Given the description of an element on the screen output the (x, y) to click on. 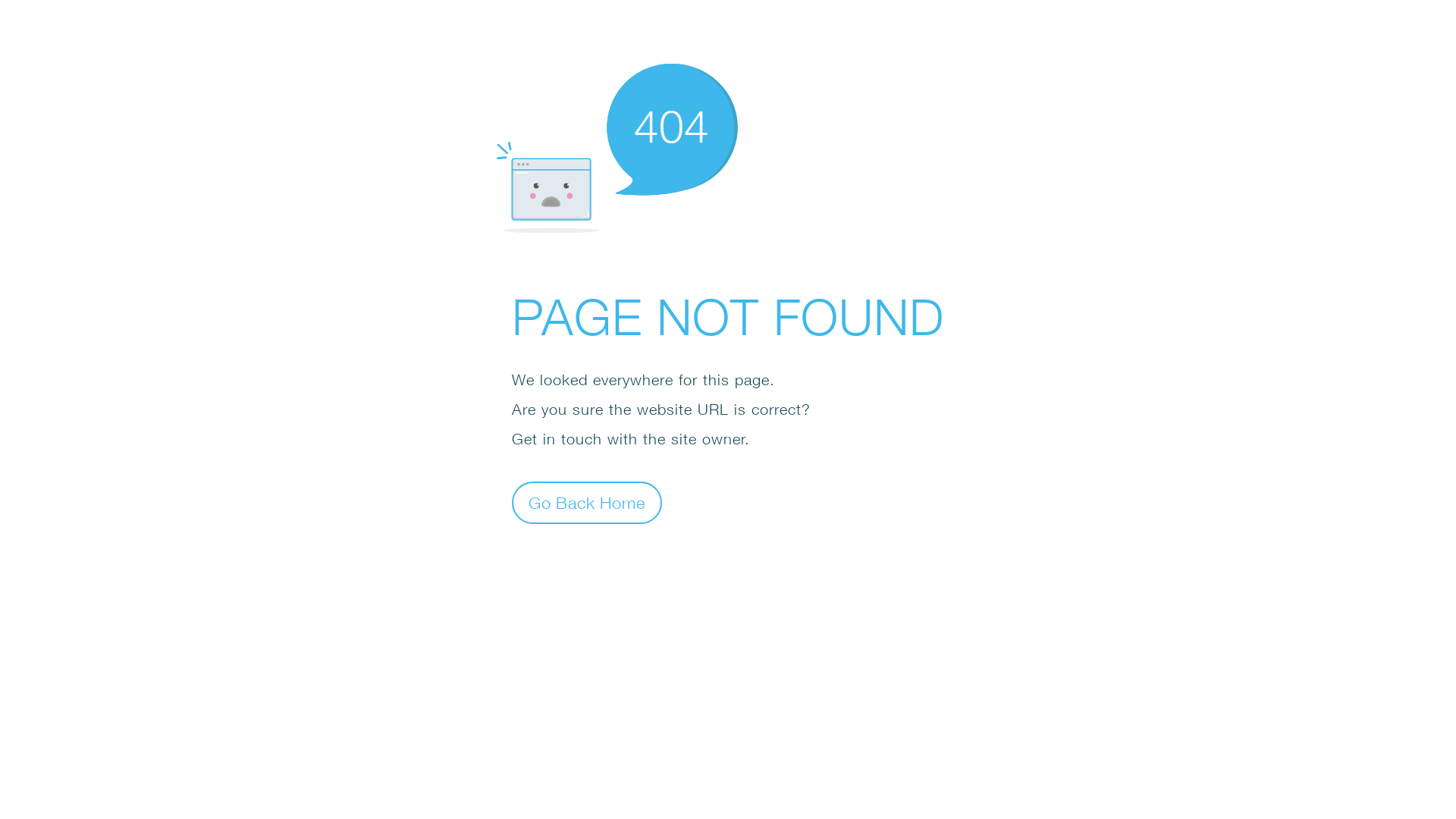
Go Back Home Element type: text (586, 502)
